Given the description of an element on the screen output the (x, y) to click on. 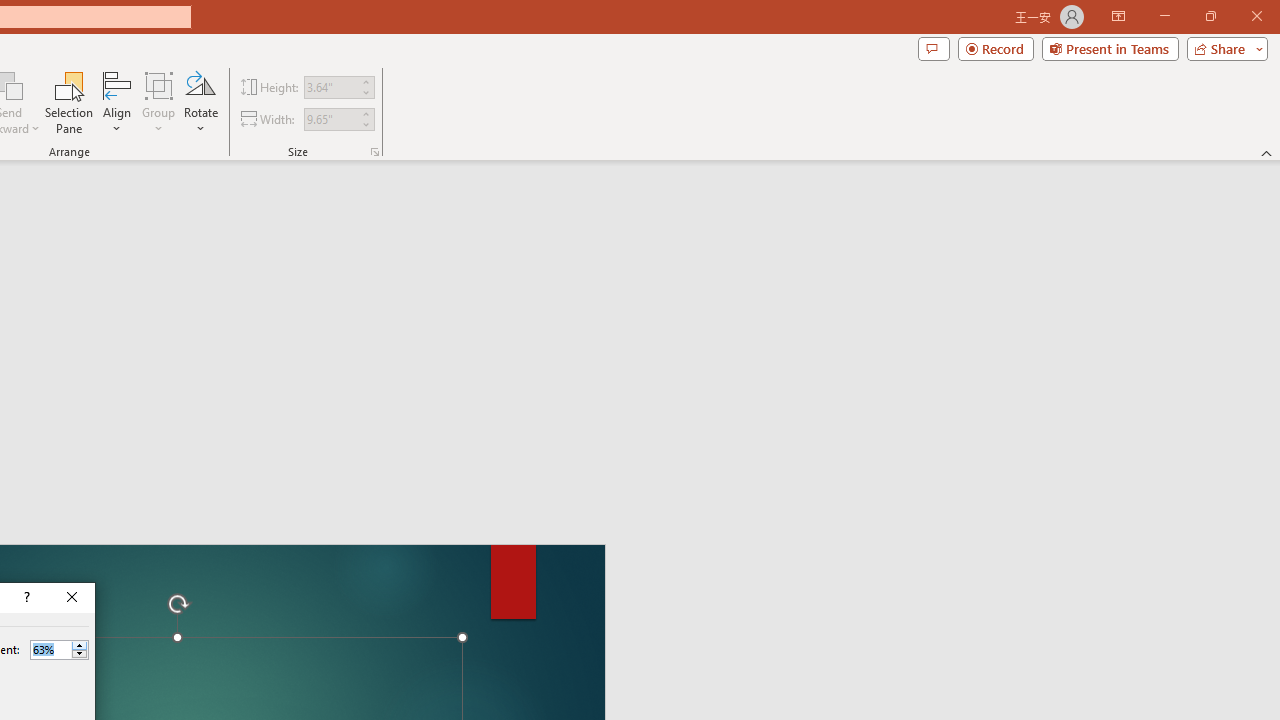
Shape Height (330, 87)
Rotate (200, 102)
Align (117, 102)
Shape Width (330, 119)
Group (159, 102)
